Given the description of an element on the screen output the (x, y) to click on. 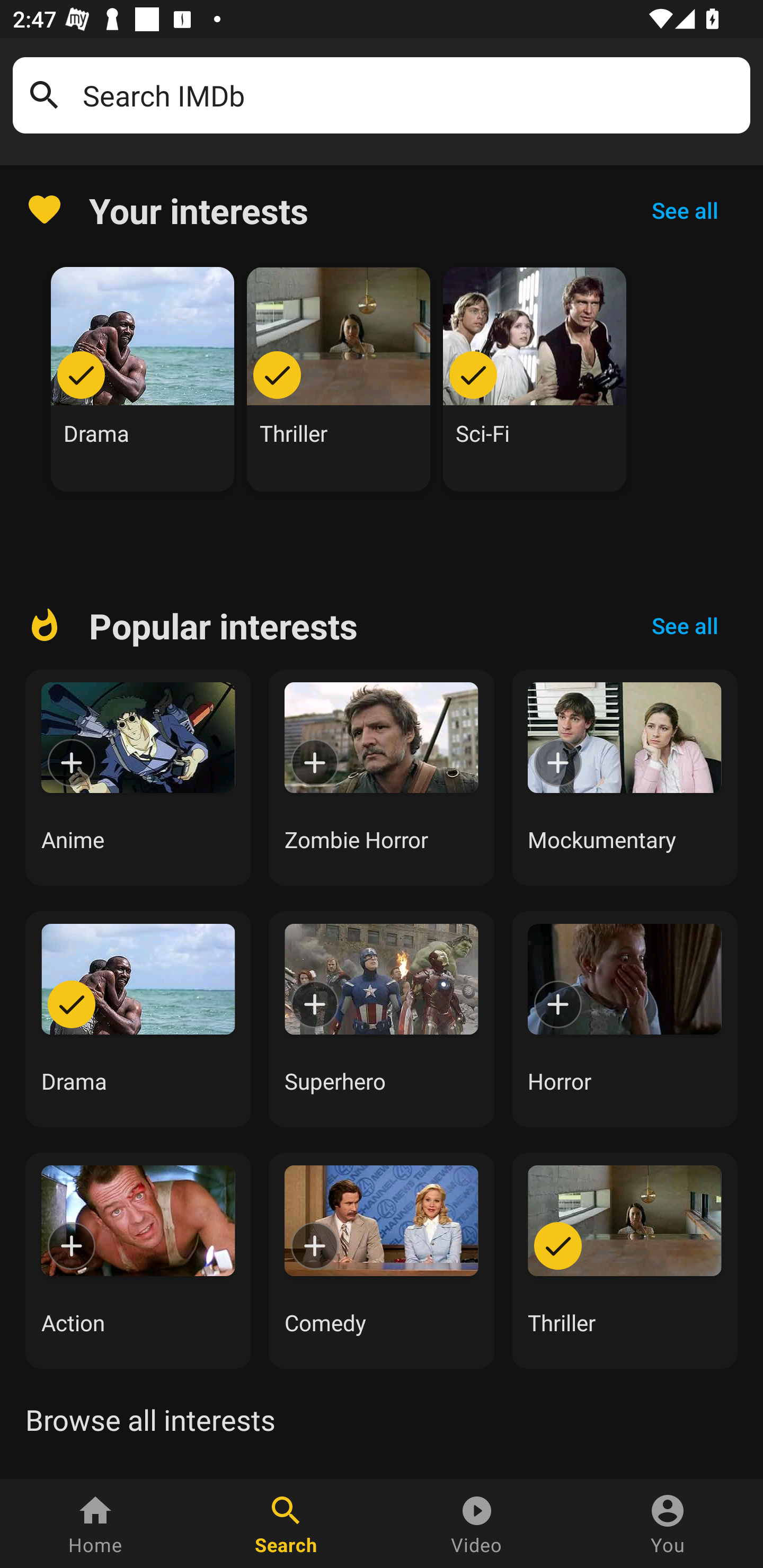
Search IMDb (410, 95)
See all (684, 209)
Drama (142, 379)
Thriller (338, 379)
Sci-Fi (534, 379)
See all (684, 625)
Anime (138, 777)
Zombie Horror (381, 777)
Mockumentary (624, 777)
Drama (138, 1018)
Superhero (381, 1018)
Horror (624, 1018)
Action (138, 1260)
Comedy (381, 1260)
Thriller (624, 1260)
Browse all interests (150, 1419)
Home (95, 1523)
Video (476, 1523)
You (667, 1523)
